Given the description of an element on the screen output the (x, y) to click on. 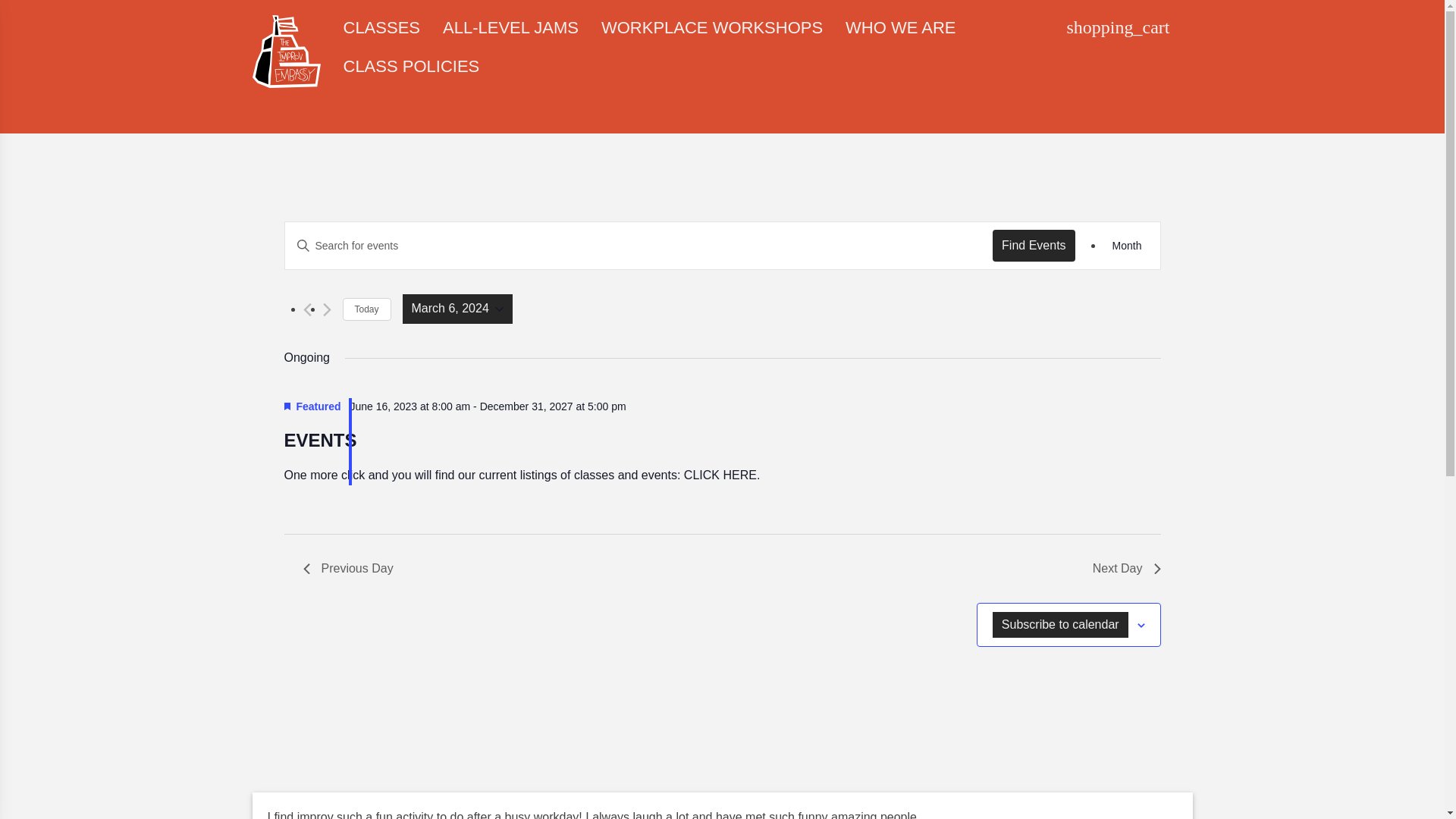
March 6, 2024 (457, 308)
EVENTS (319, 440)
WORKPLACE WORKSHOPS (711, 28)
Next Day (1126, 568)
Click to select today's date (366, 309)
Subscribe to calendar (1060, 624)
EVENTS (319, 440)
Find Events (1033, 245)
Today (366, 309)
